Given the description of an element on the screen output the (x, y) to click on. 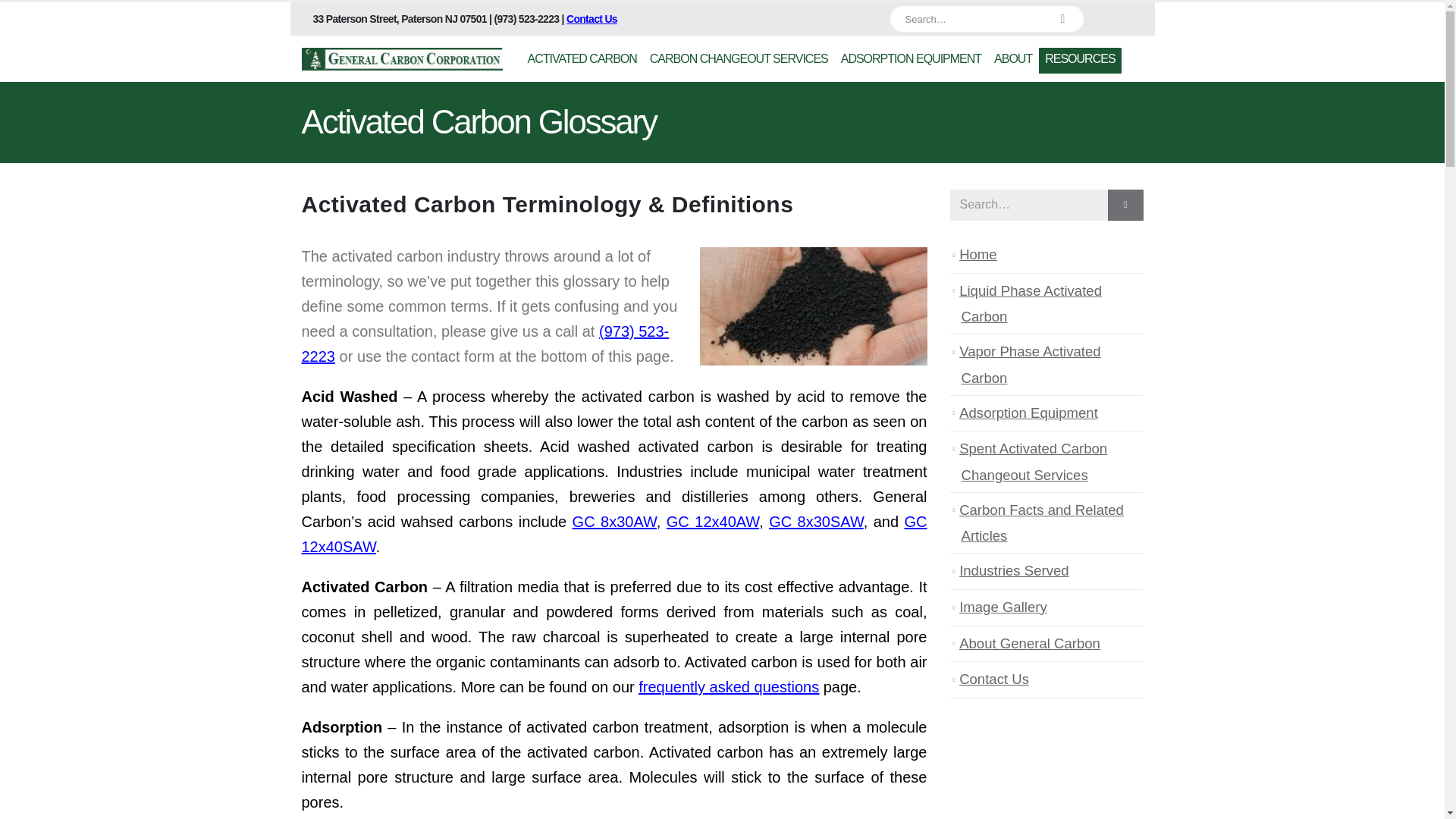
CARBON CHANGEOUT SERVICES (738, 60)
RESOURCES (1080, 60)
ABOUT (1013, 60)
Search (1063, 18)
Contact Us (591, 19)
ADSORPTION EQUIPMENT (910, 60)
ACTIVATED CARBON (582, 60)
